Given the description of an element on the screen output the (x, y) to click on. 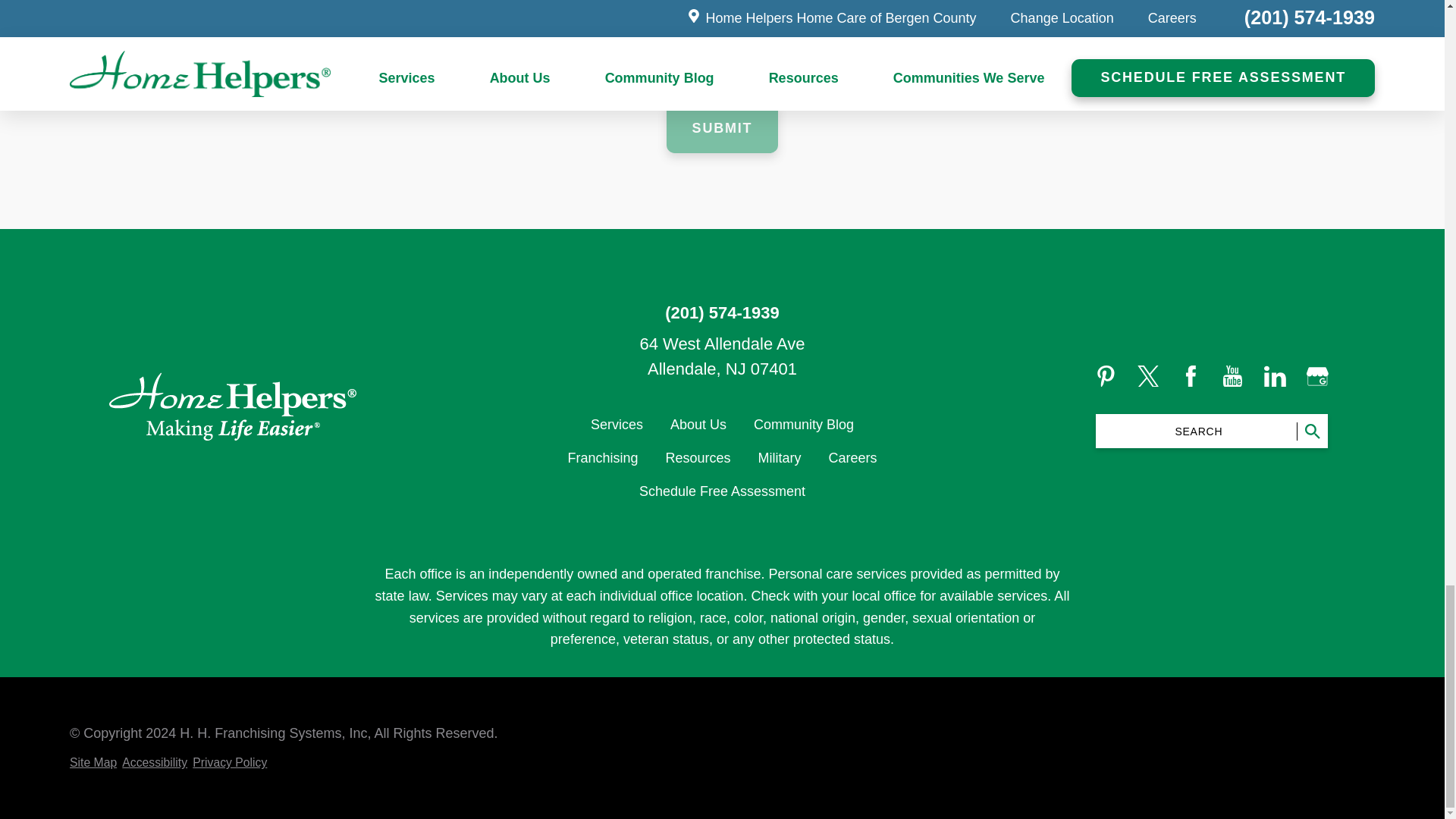
Facebook (1190, 376)
Pinterest (1105, 376)
1 (364, 1)
Twitter (1147, 376)
YouTube (1232, 376)
Submit (721, 126)
LinkedIn (1274, 376)
Google Map (1316, 376)
